Given the description of an element on the screen output the (x, y) to click on. 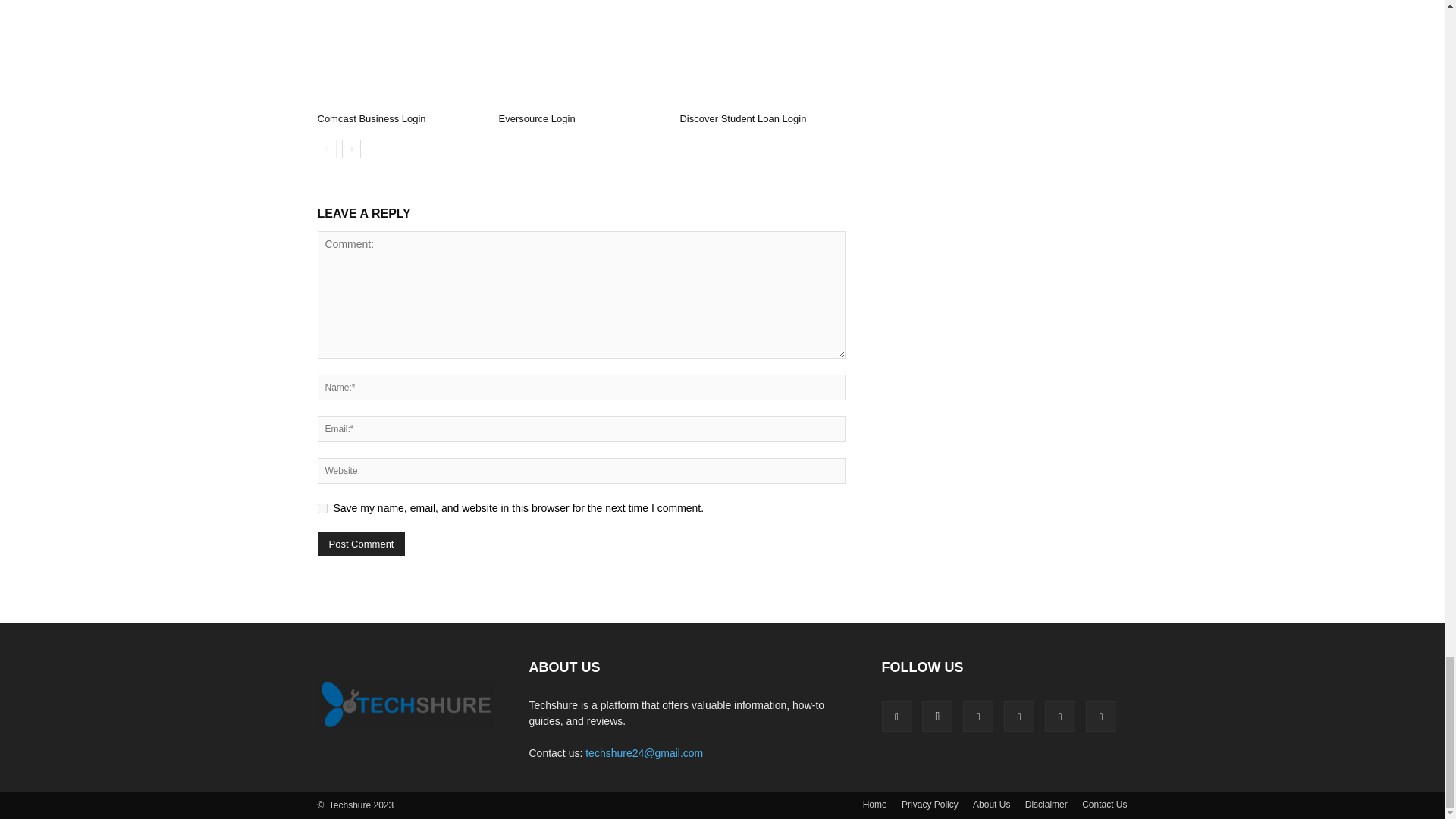
Post Comment (360, 544)
Comcast Business Login (371, 118)
Comcast Business Login (399, 53)
yes (321, 508)
